Given the description of an element on the screen output the (x, y) to click on. 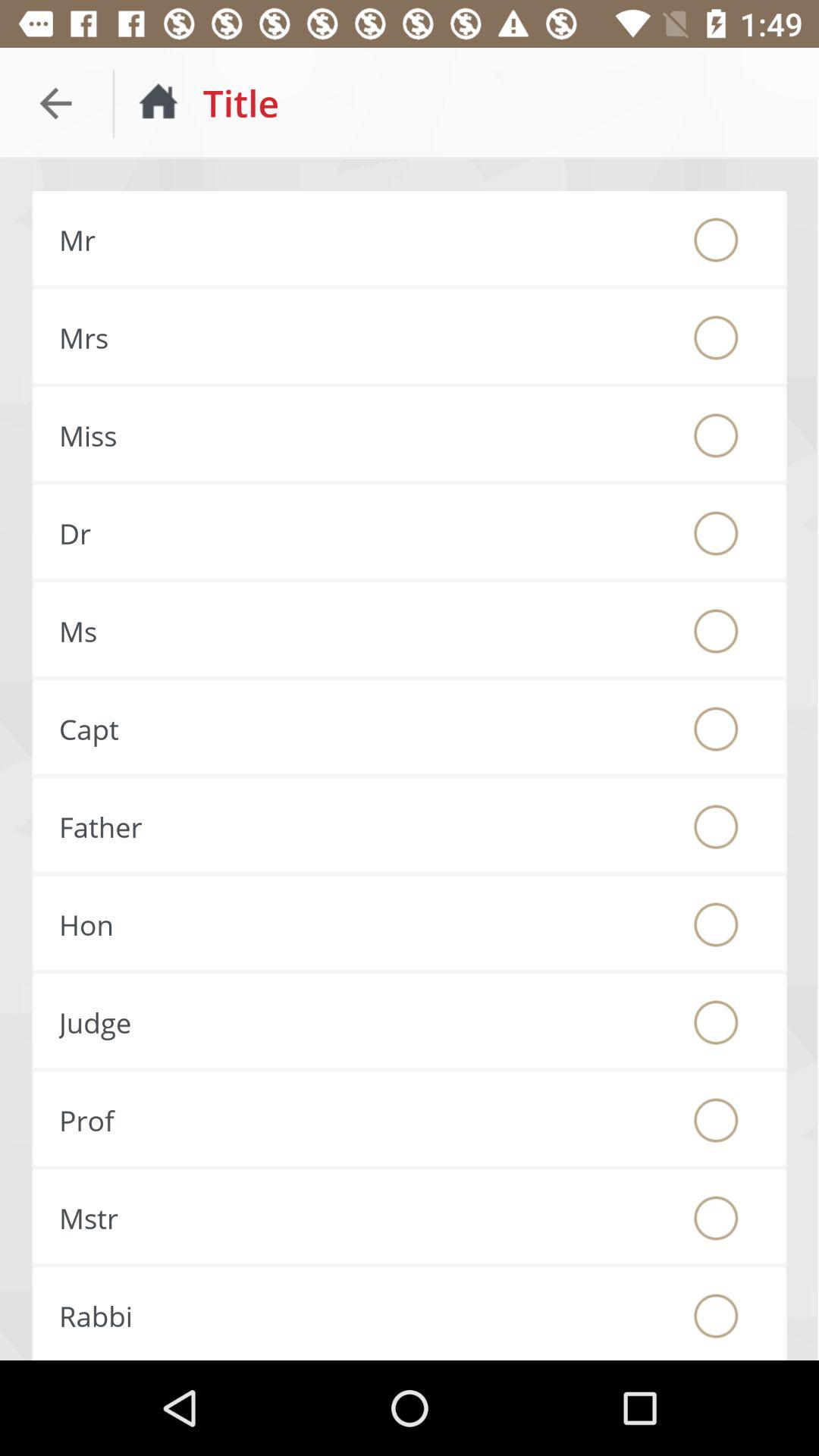
select the option (715, 826)
